Given the description of an element on the screen output the (x, y) to click on. 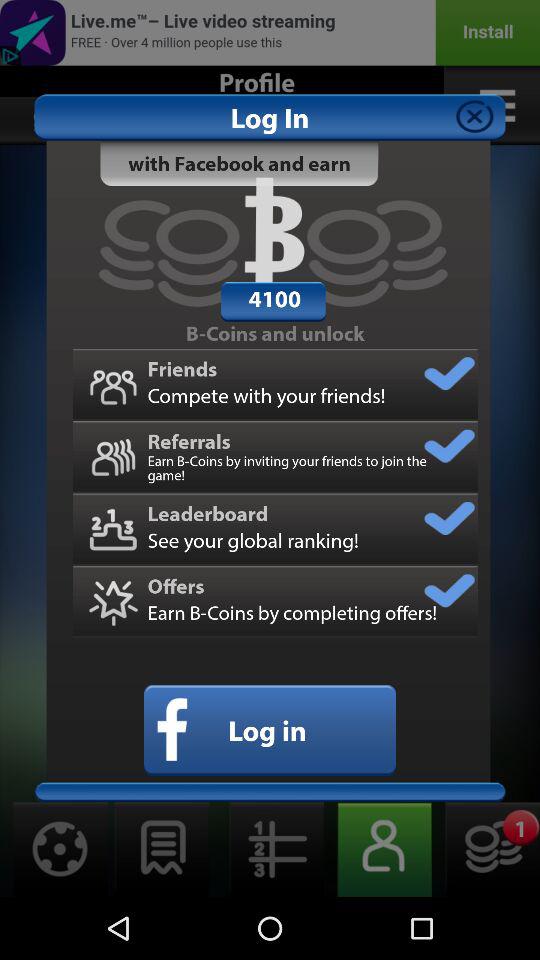
click on the friends icon (112, 384)
move to icon which is left to text offers (112, 602)
